Given the description of an element on the screen output the (x, y) to click on. 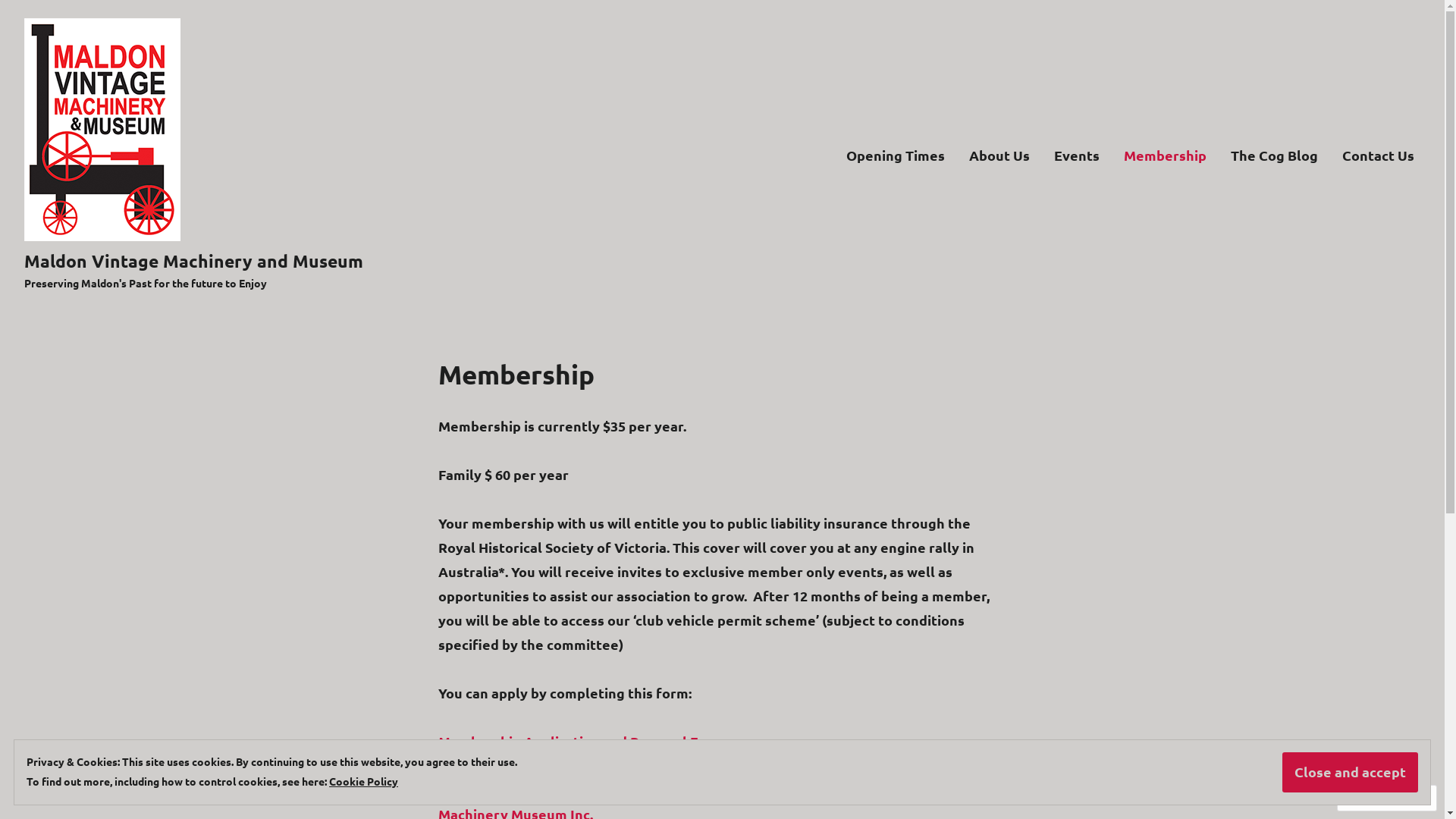
Cookie Policy Element type: text (363, 780)
About Us Element type: text (999, 155)
Follow Element type: text (1372, 797)
Events Element type: text (1076, 155)
Membership Element type: text (1164, 155)
Membership Application and Renewal Form Element type: text (581, 740)
Maldon Vintage Machinery and Museum Element type: text (193, 261)
The Cog Blog Element type: text (1274, 155)
Close and accept Element type: text (1350, 772)
Opening Times Element type: text (895, 155)
Contact Us Element type: text (1378, 155)
